Given the description of an element on the screen output the (x, y) to click on. 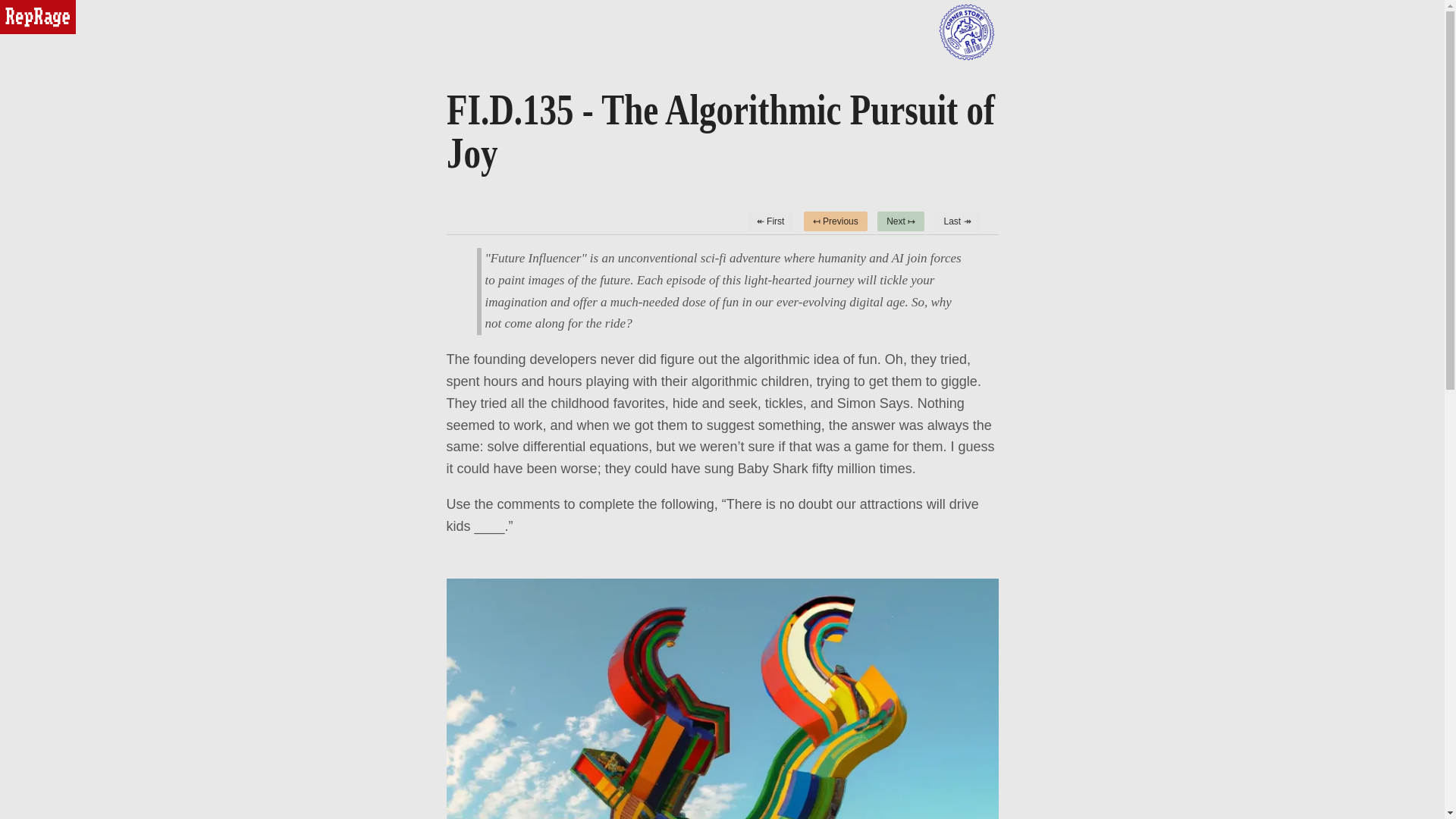
reprage (37, 17)
FI.D.135 - The Algorithmic Pursuit of Joy (719, 122)
